Given the description of an element on the screen output the (x, y) to click on. 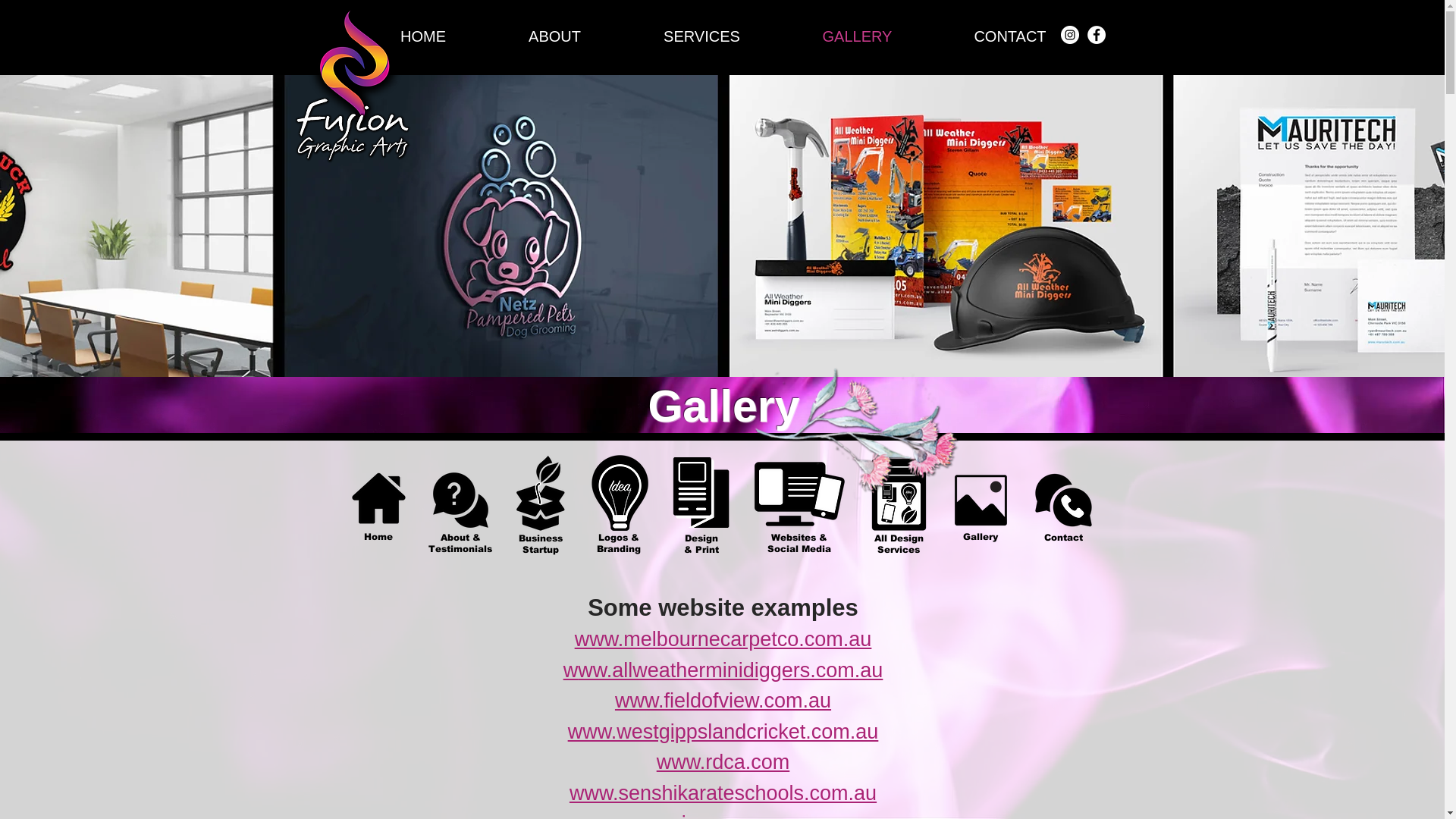
Logos & Branding Element type: text (618, 543)
Websites &
Social Media Element type: text (799, 543)
GALLERY Element type: text (856, 36)
CONTACT Element type: text (1009, 36)
HOME Element type: text (423, 36)
www.westgippslandcricket.com.au Element type: text (722, 731)
Contact Element type: text (1062, 537)
Gallery Element type: text (980, 536)
www.fieldofview.com.au Element type: text (723, 700)
SERVICES Element type: text (701, 36)
www.rdca.com Element type: text (723, 761)
Home Element type: text (378, 536)
w Element type: text (570, 669)
www.senshikarateschools.com.au Element type: text (722, 792)
www.melbournecarpetco.com.au Element type: text (723, 638)
All Design Services Element type: text (897, 544)
About & Testimonials Element type: text (460, 543)
Design
& Print Element type: text (701, 544)
Business Startup Element type: text (540, 544)
ww.allweatherminidiggers.com.au Element type: text (729, 669)
ABOUT Element type: text (553, 36)
